Given the description of an element on the screen output the (x, y) to click on. 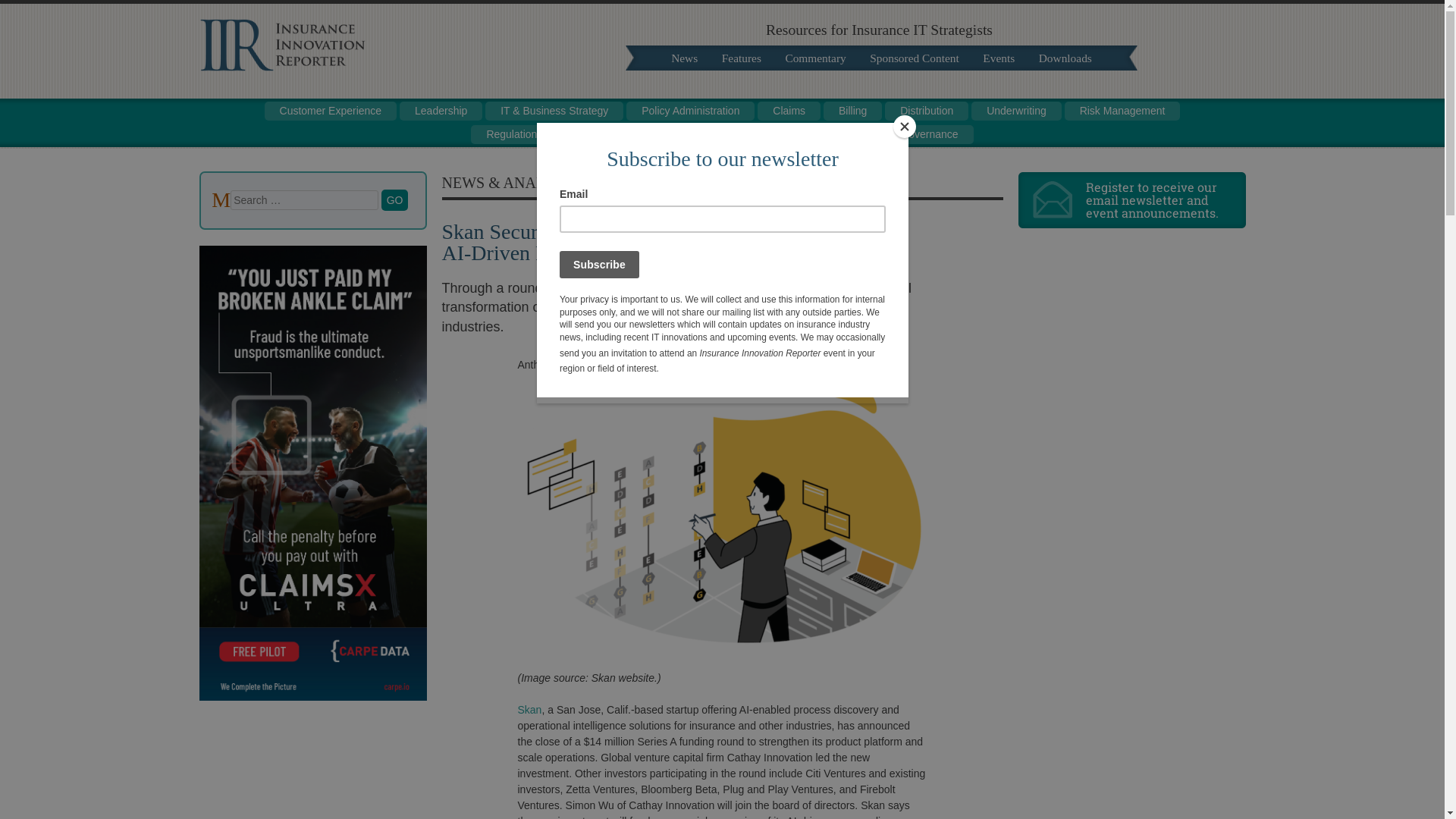
Insurance Innovation Reporter (281, 67)
Leadership (439, 110)
News (684, 57)
Sponsored Content (914, 57)
Enterprise Technology (802, 134)
Customer Experience (330, 110)
Claims (789, 110)
Skan (528, 709)
Downloads (1064, 57)
Billing (853, 110)
Skip to content (679, 57)
Policy Administration (690, 110)
Commentary (815, 57)
Skip to content (226, 109)
Skip to content (226, 109)
